Given the description of an element on the screen output the (x, y) to click on. 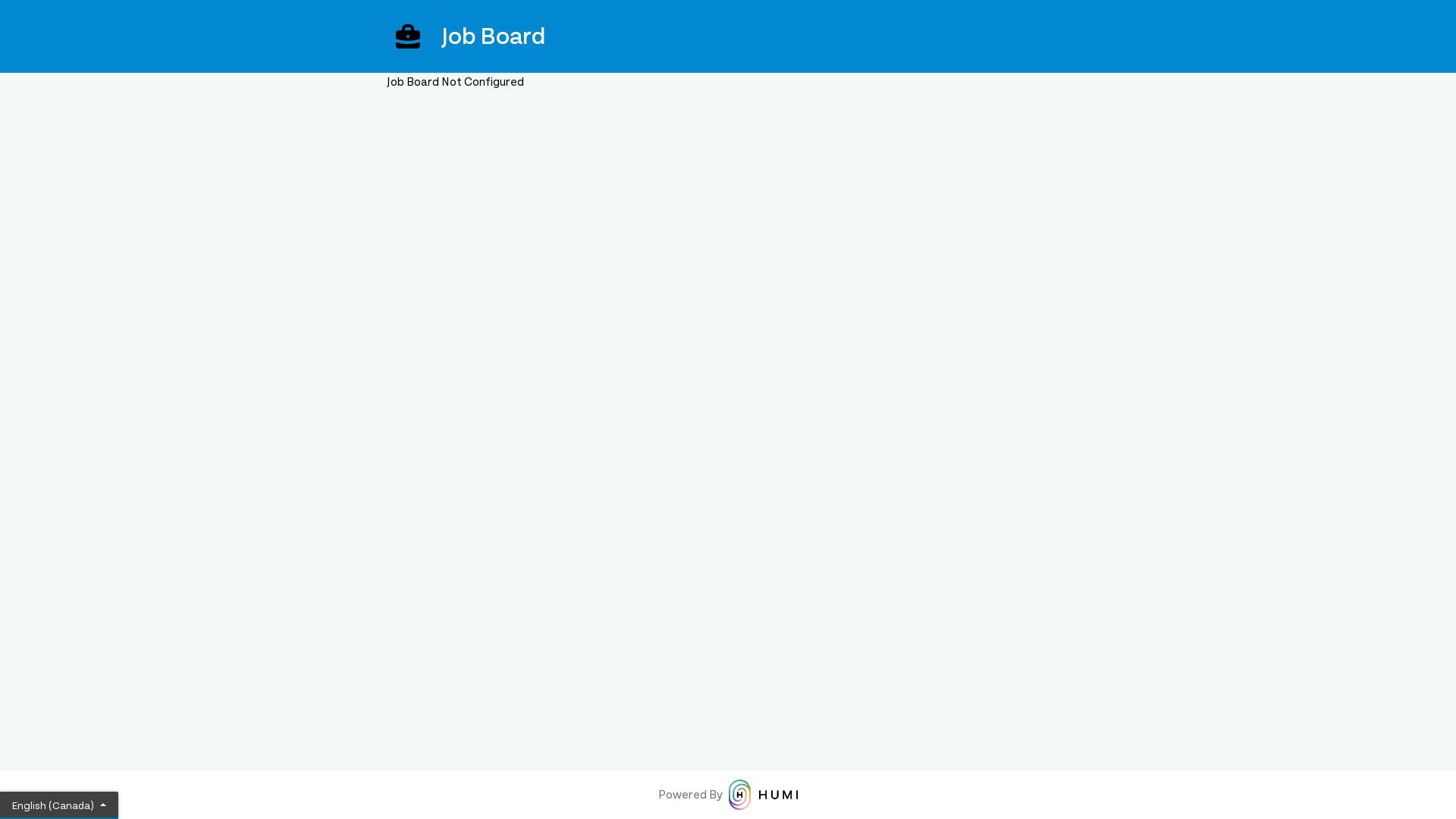
Powered By Element type: text (727, 794)
Job Board Element type: text (727, 36)
